Given the description of an element on the screen output the (x, y) to click on. 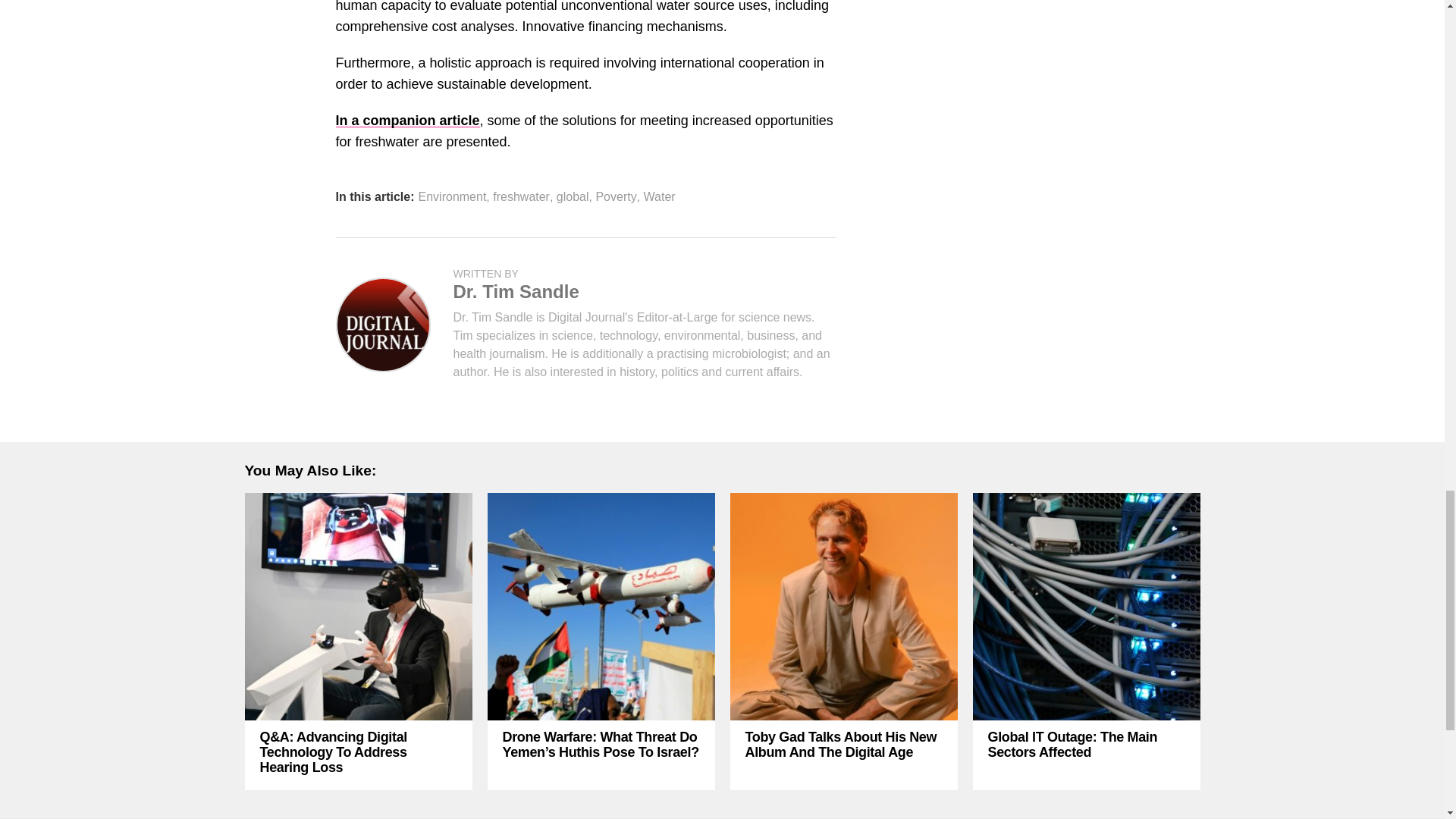
In a companion article (406, 120)
Posts by Dr. Tim Sandle (515, 291)
